Given the description of an element on the screen output the (x, y) to click on. 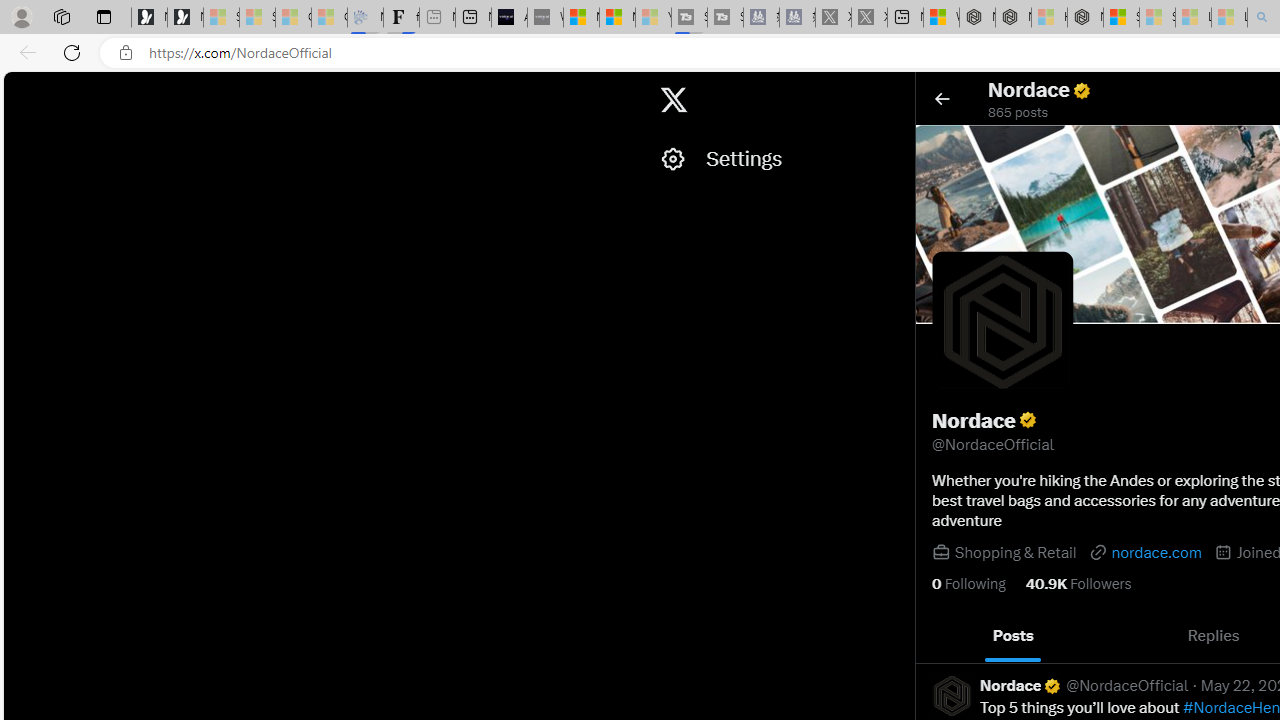
Microsoft Start Sports (581, 17)
Skip to home timeline (21, 90)
Microsoft Start (617, 17)
AI Voice Changer for PC and Mac - Voice.ai (509, 17)
40.9K Followers (1078, 583)
What's the best AI voice generator? - voice.ai - Sleeping (545, 17)
Nordace Verified account (1021, 685)
Nordace - Nordace Siena Is Not An Ordinary Backpack (1085, 17)
Settings (777, 159)
Provides details about verified accounts. (1027, 420)
New tab - Sleeping (436, 17)
